Given the description of an element on the screen output the (x, y) to click on. 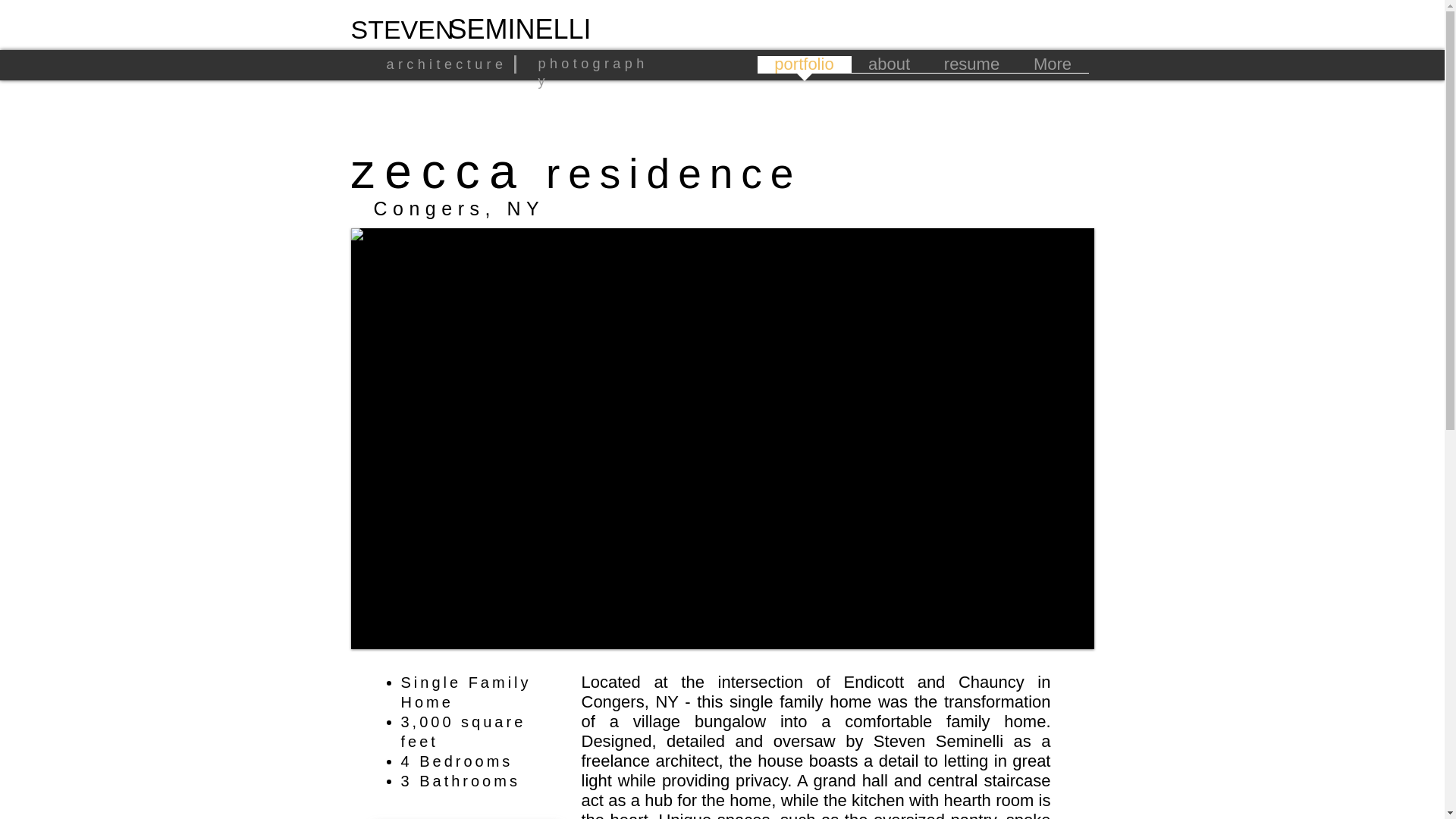
STEVEN (401, 29)
resume (971, 69)
SEMINELLI (519, 29)
portfolio (803, 69)
architecture (446, 64)
about (888, 69)
